Given the description of an element on the screen output the (x, y) to click on. 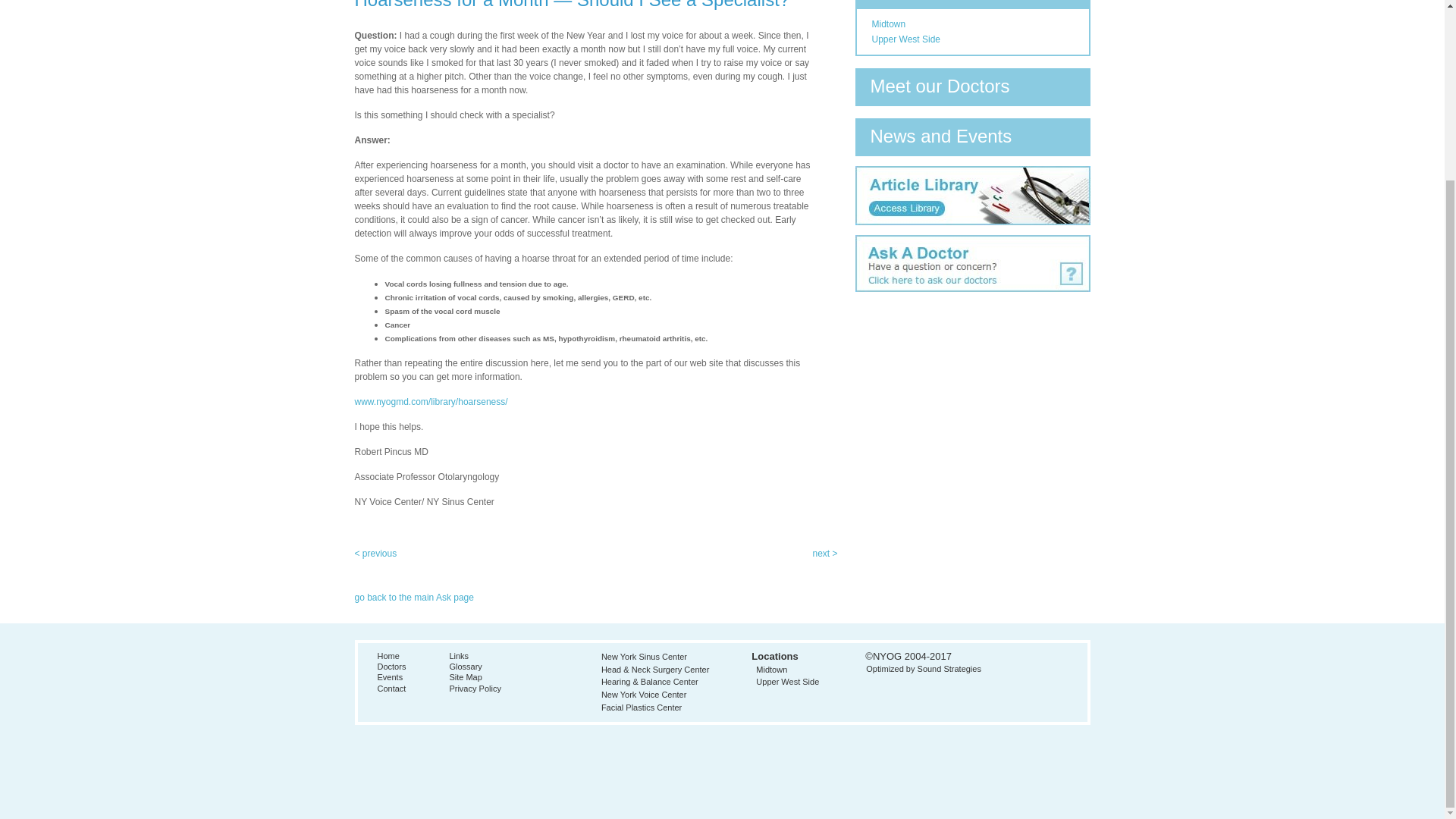
ask-the-doctor (973, 240)
